Given the description of an element on the screen output the (x, y) to click on. 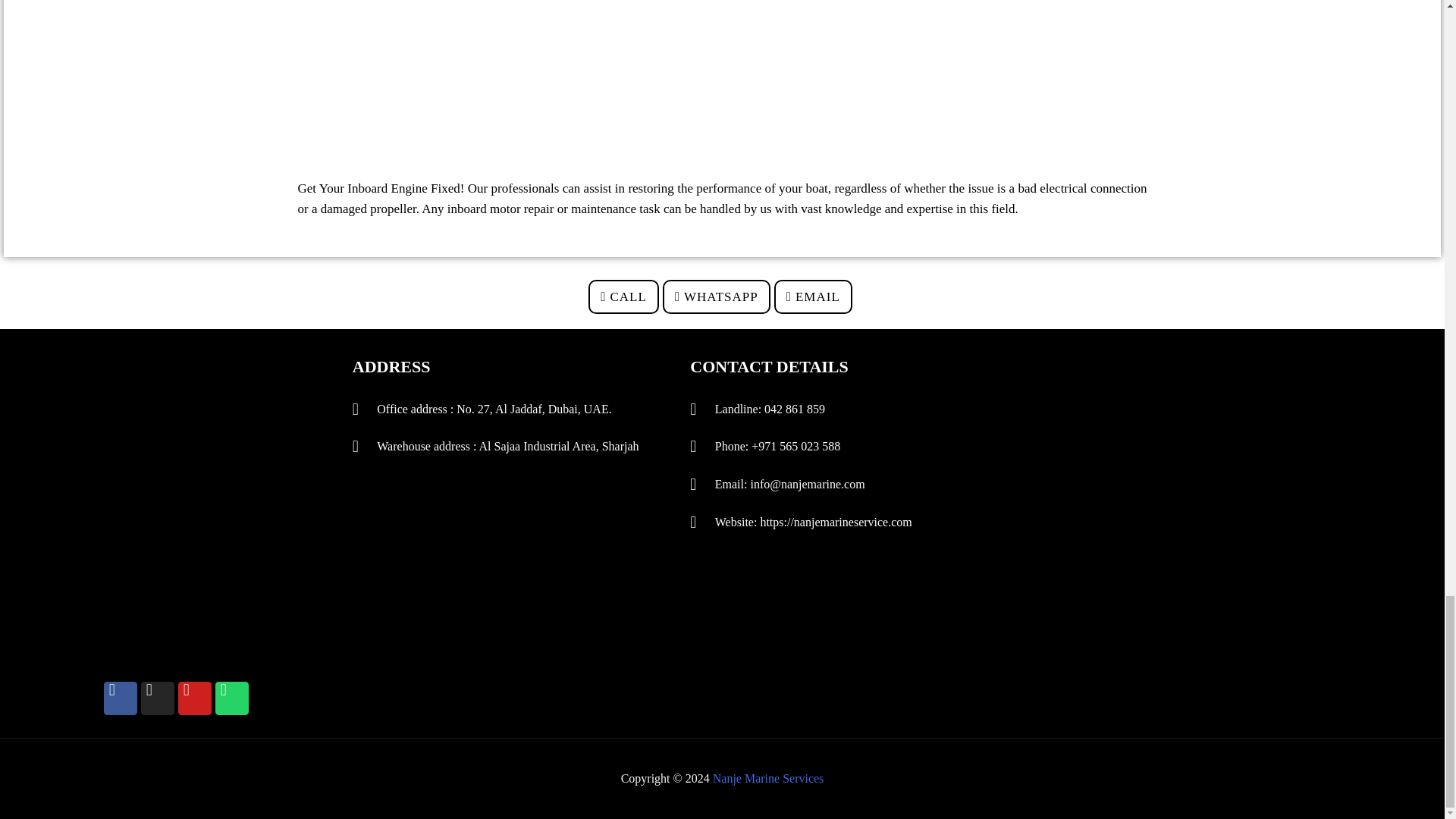
Landline: 042 861 859 (838, 409)
Facebook (119, 697)
Instagram (157, 697)
EMAIL (812, 296)
Whatsapp (231, 697)
WHATSAPP (716, 296)
Youtube (194, 697)
CALL (623, 296)
